Given the description of an element on the screen output the (x, y) to click on. 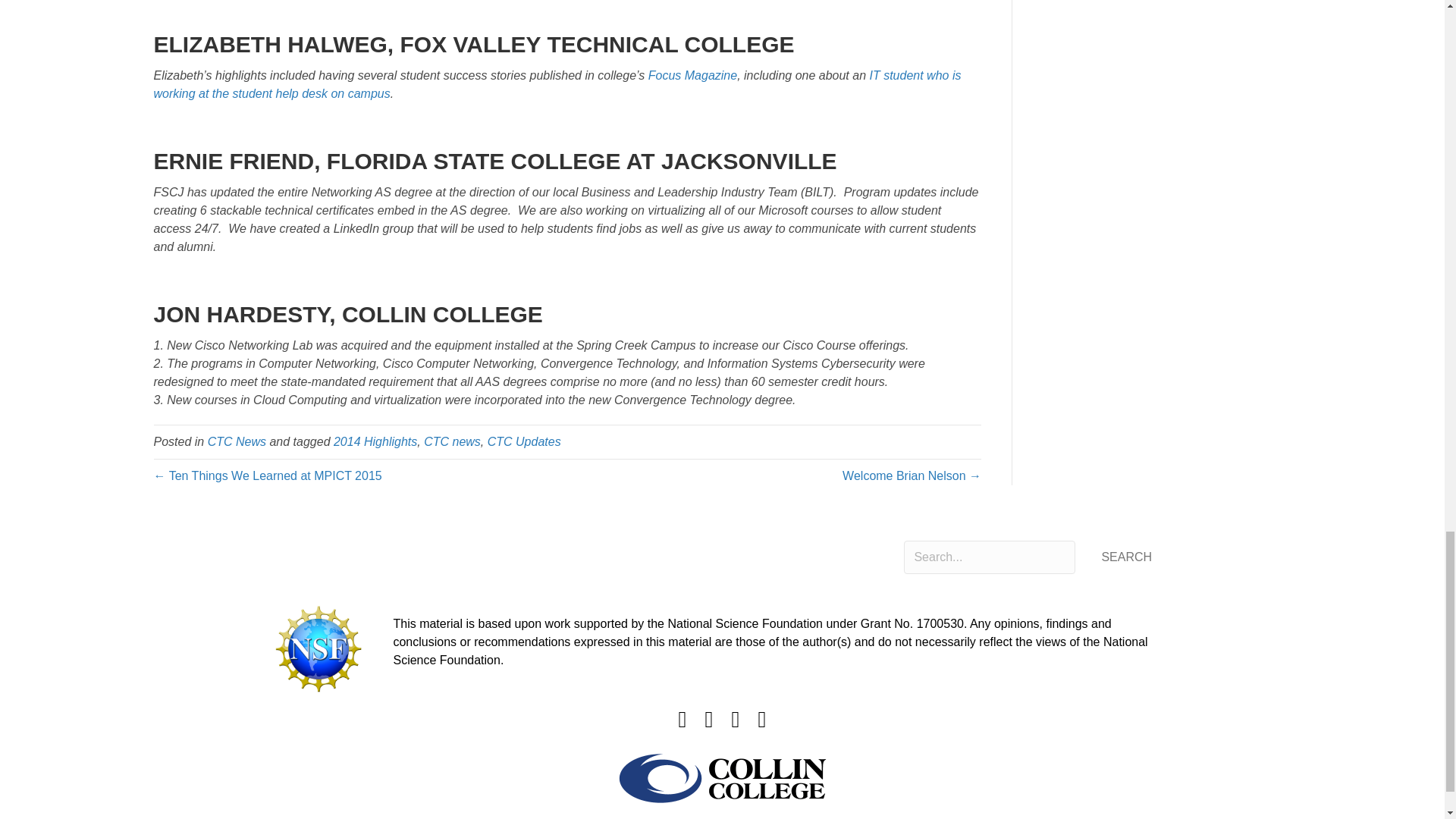
NSF 4 Color Logo with Shading - Print (318, 648)
Focus Magazine (690, 74)
